Given the description of an element on the screen output the (x, y) to click on. 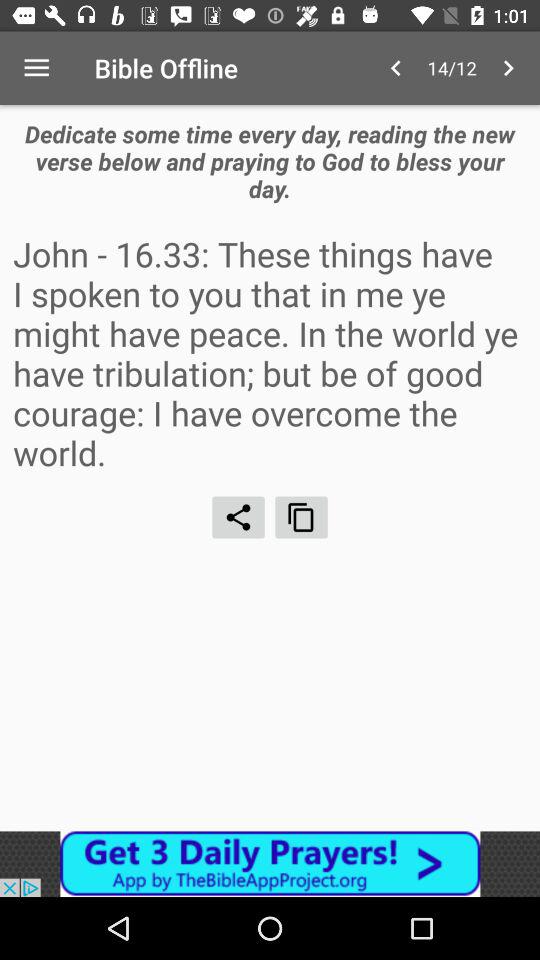
window options (301, 517)
